Given the description of an element on the screen output the (x, y) to click on. 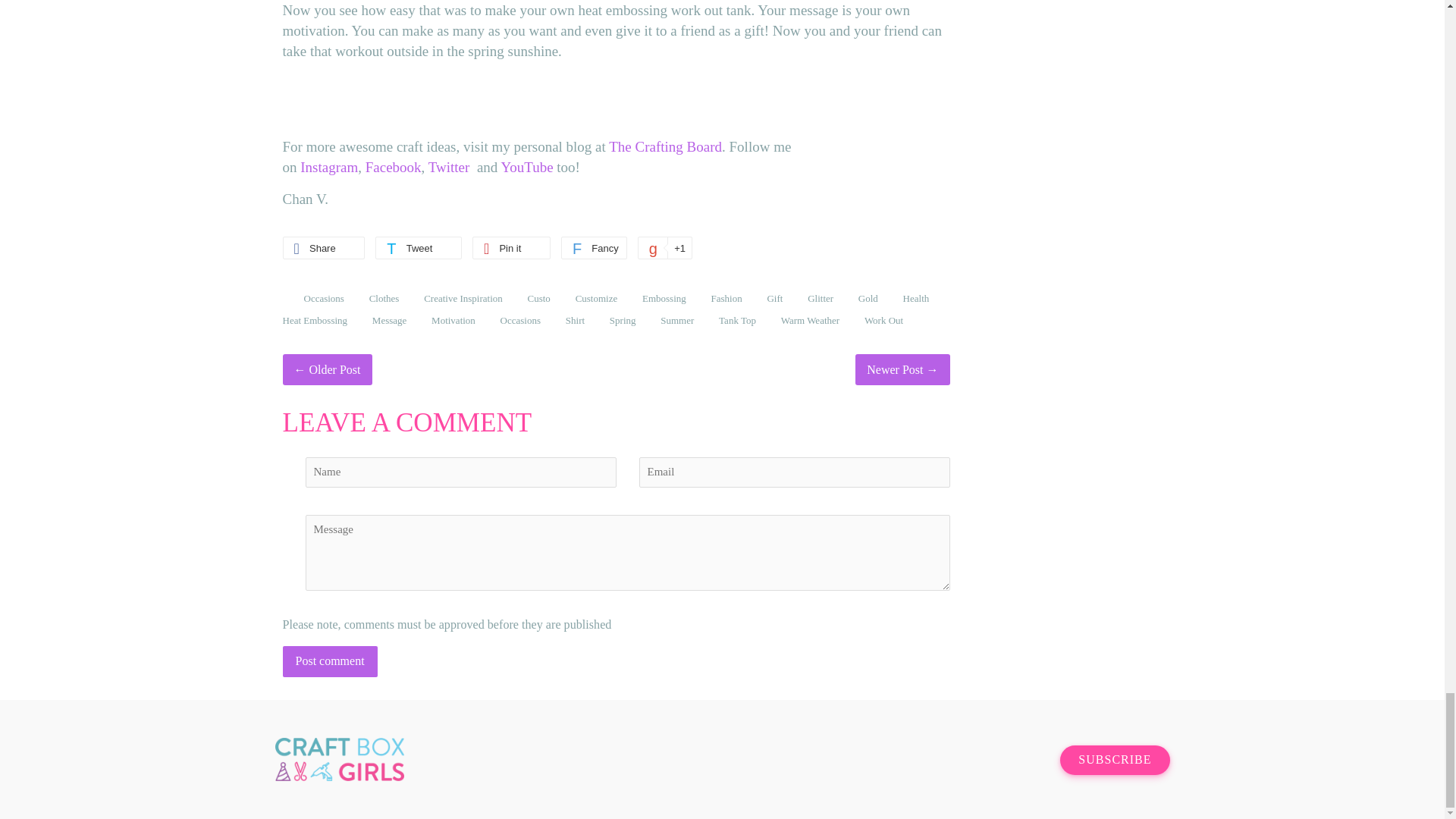
YouTube (526, 166)
Post comment (329, 661)
Facebook (393, 166)
Instagram (328, 166)
Craft Box Girls on Instagram (985, 760)
Craft Box Girls on Facebook (959, 760)
Twitter (450, 166)
The Crafting Board (665, 146)
